Given the description of an element on the screen output the (x, y) to click on. 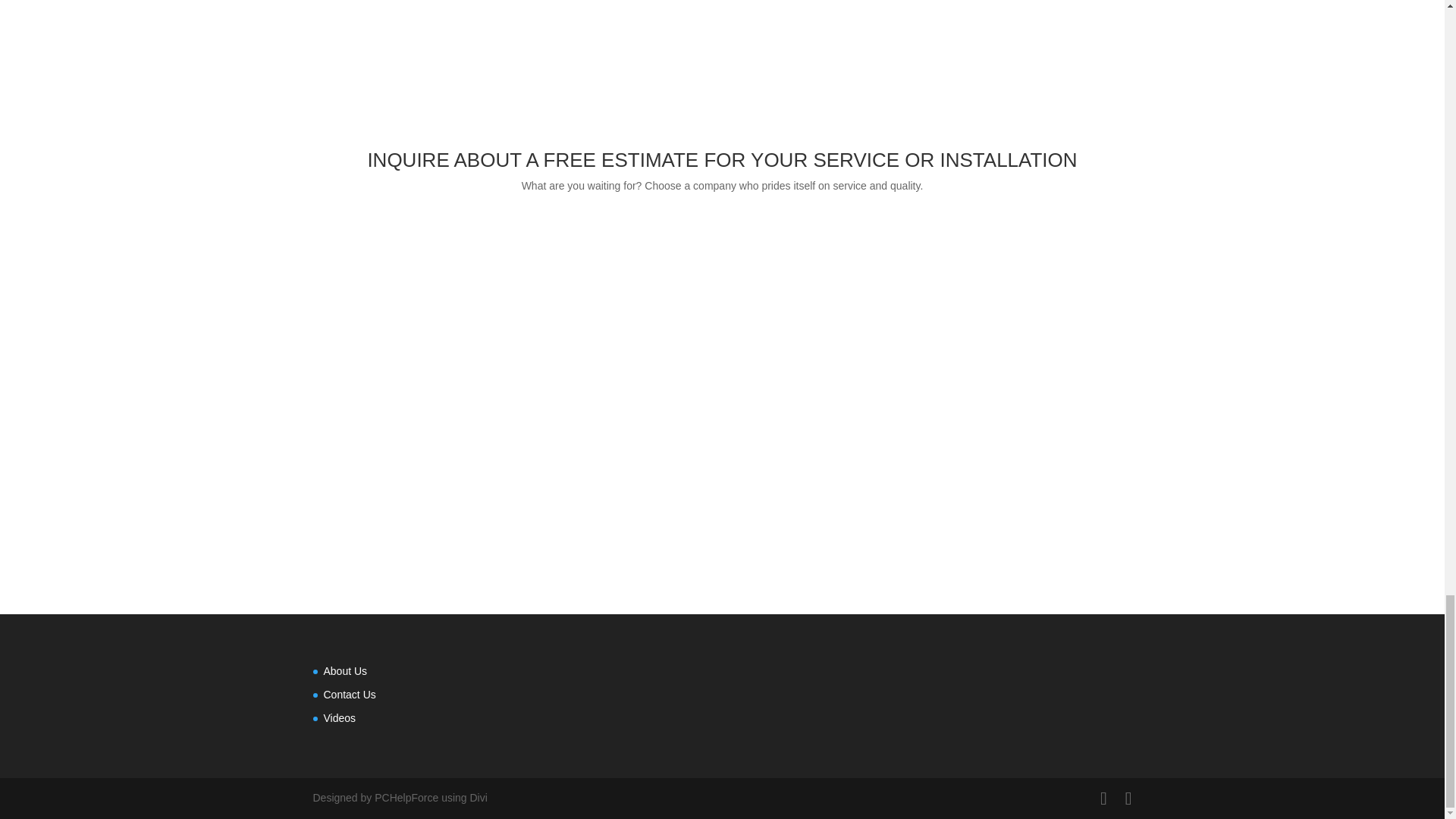
Citations (722, 447)
Contact Us (349, 694)
GET IN TOUCH TODAY (722, 236)
Videos (339, 717)
About Us (344, 671)
